Given the description of an element on the screen output the (x, y) to click on. 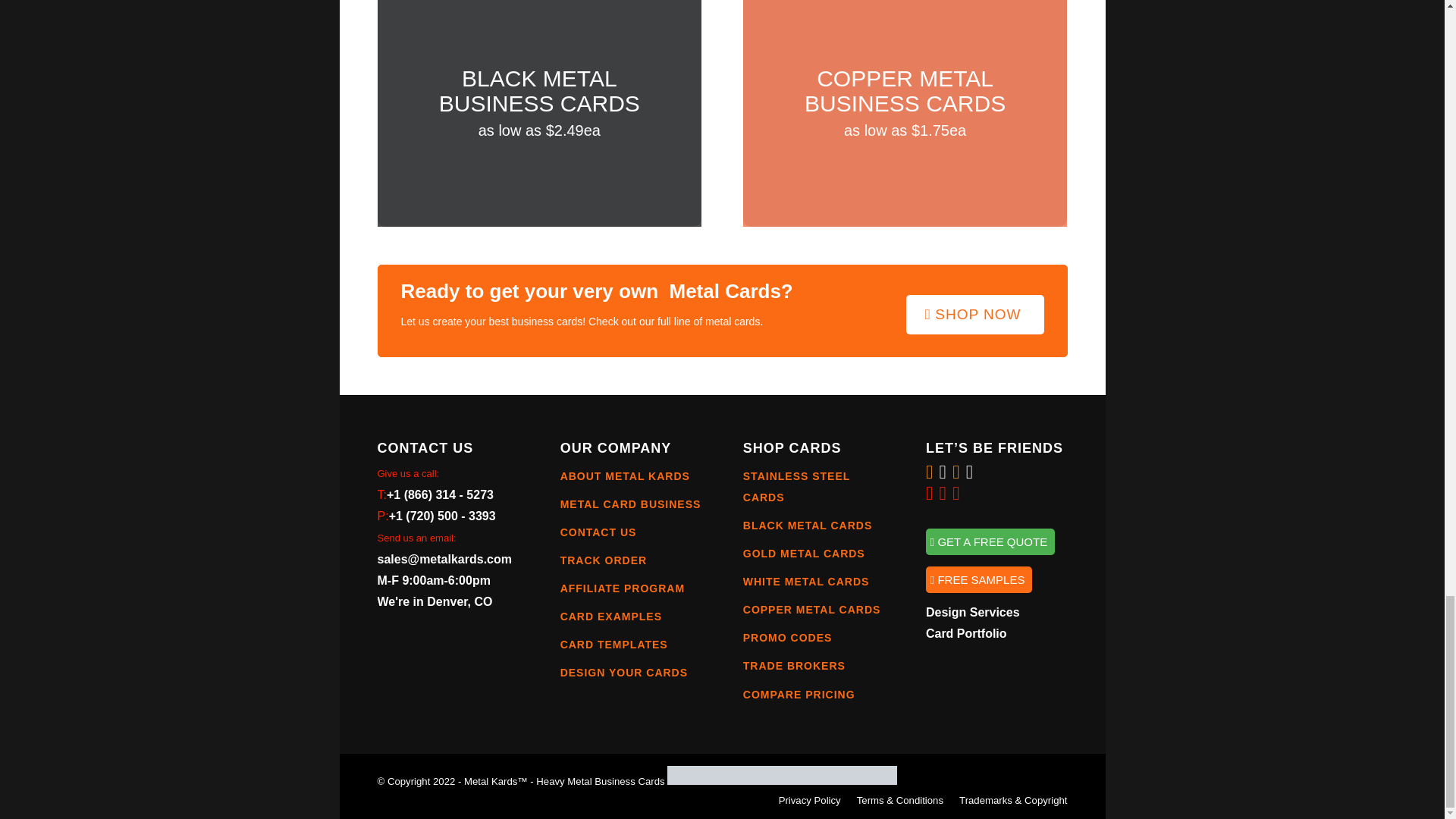
product-black-metal-business-cards (539, 113)
